Given the description of an element on the screen output the (x, y) to click on. 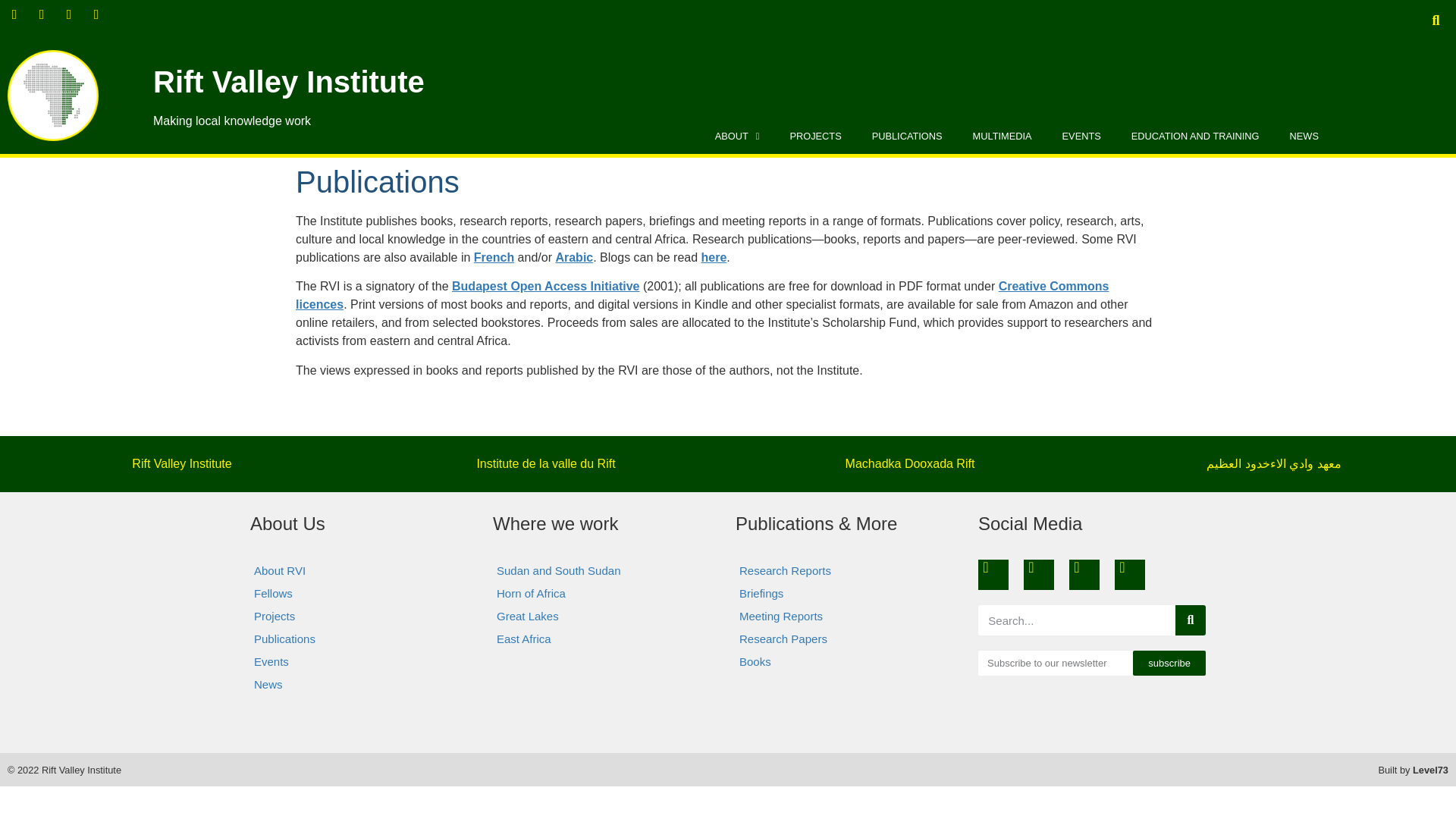
ABOUT (737, 135)
EDUCATION AND TRAINING (1195, 135)
About RVI (363, 570)
Fellows (363, 593)
PROJECTS (815, 135)
Rift Valley Institute (288, 81)
Arabic (573, 256)
EVENTS (1081, 135)
French (493, 256)
Budapest Open Access Initiative (545, 286)
